Given the description of an element on the screen output the (x, y) to click on. 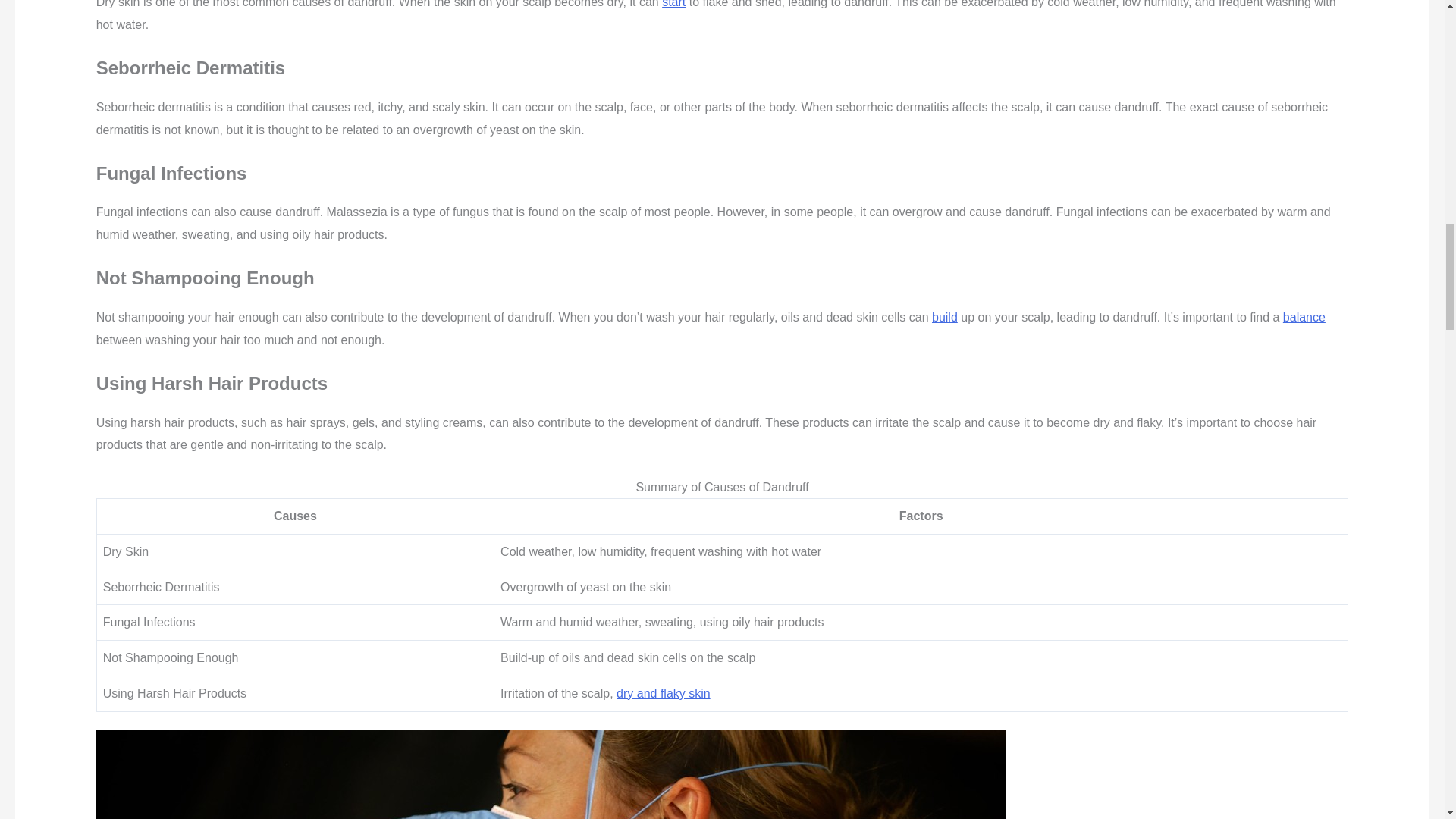
dry and flaky skin (662, 693)
balance (1303, 317)
build (944, 317)
start (673, 4)
